Given the description of an element on the screen output the (x, y) to click on. 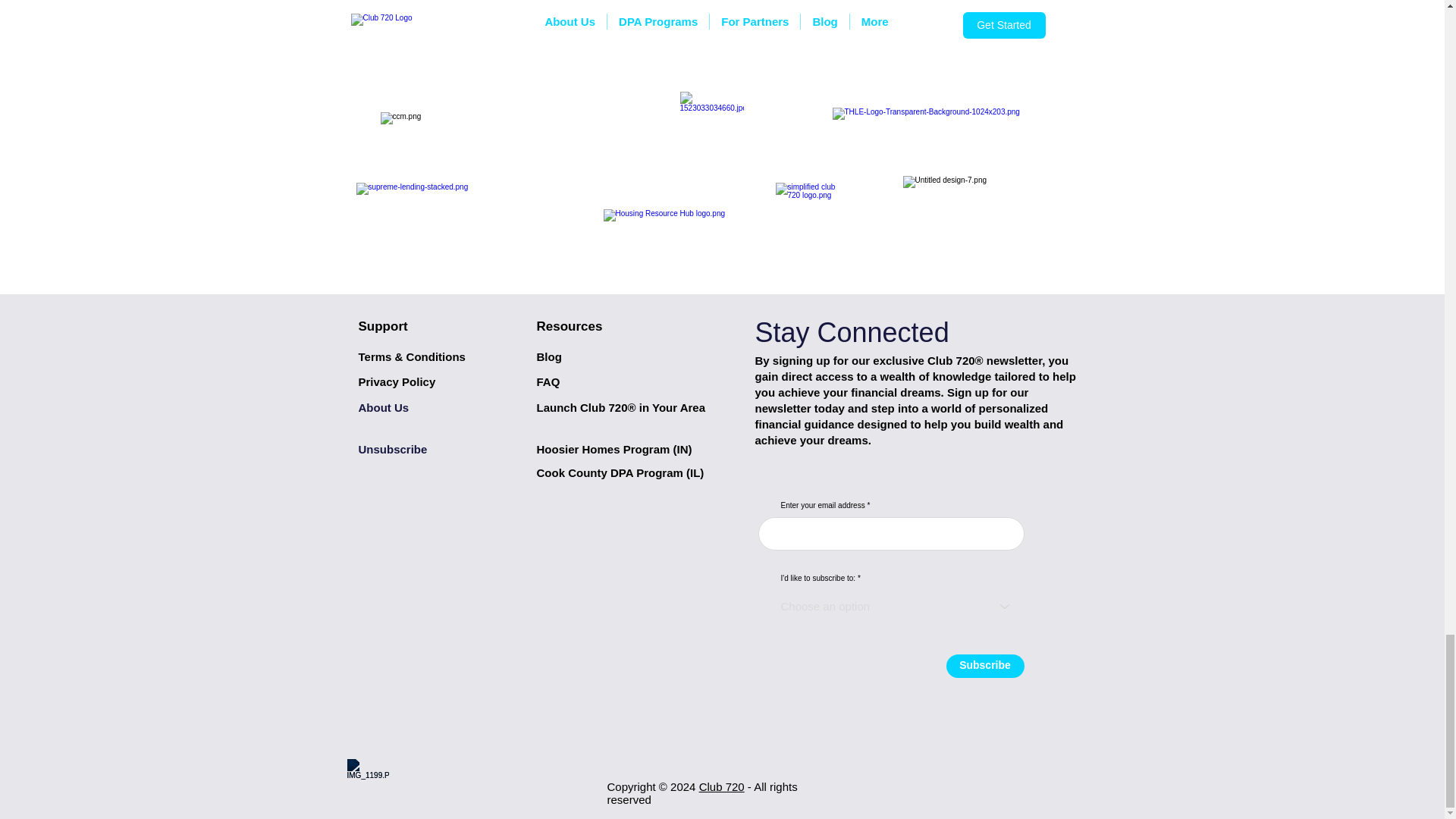
 in Your Area (670, 407)
Privacy Policy (396, 381)
Unsubscribe (392, 449)
Launch (558, 407)
Blog (549, 356)
Subscribe (985, 666)
About Us (383, 407)
Club 720 (721, 786)
